Given the description of an element on the screen output the (x, y) to click on. 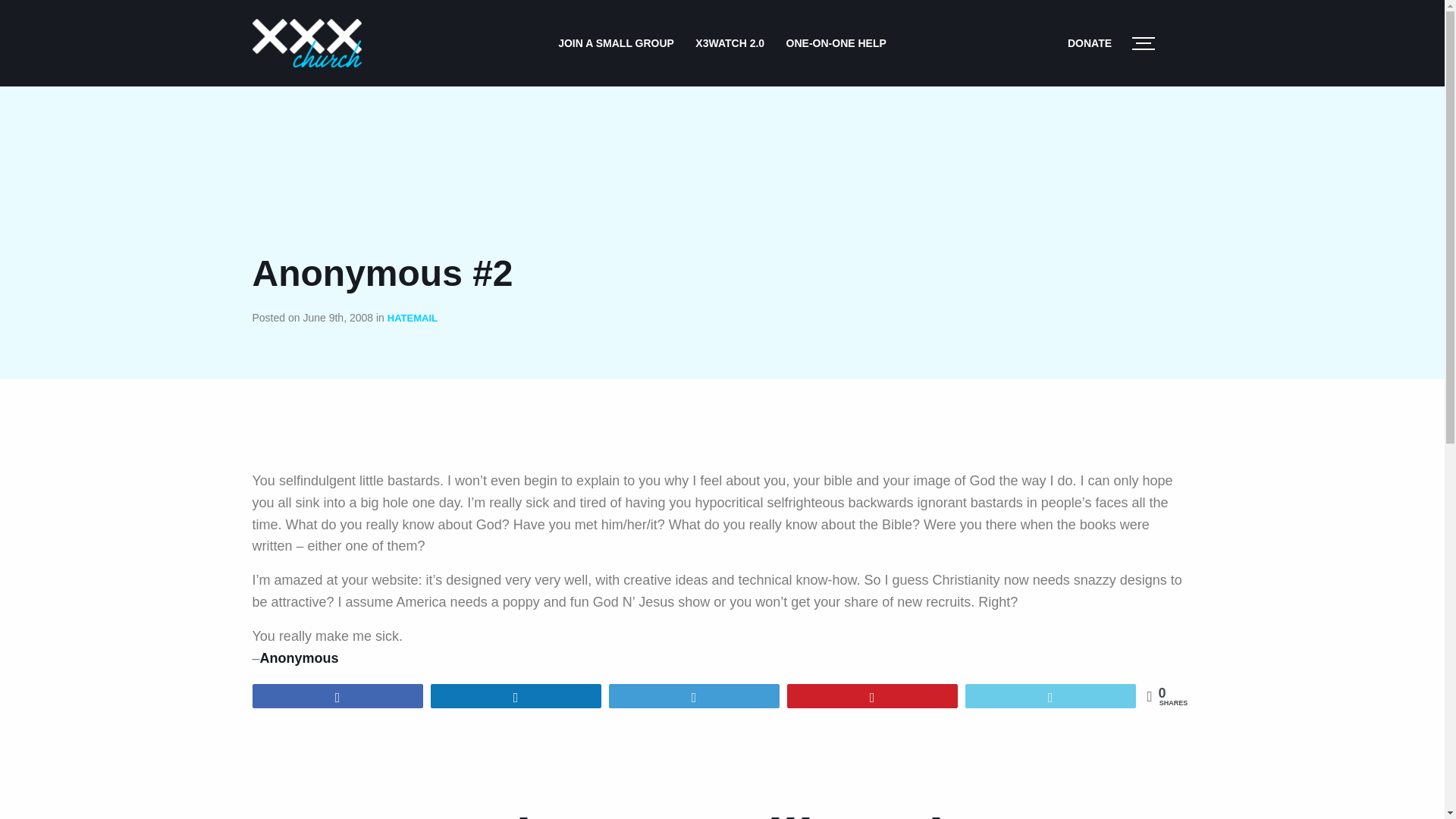
X3WATCH 2.0 (729, 43)
DONATE (1089, 43)
JOIN A SMALL GROUP (615, 43)
ONE-ON-ONE HELP (836, 43)
